Given the description of an element on the screen output the (x, y) to click on. 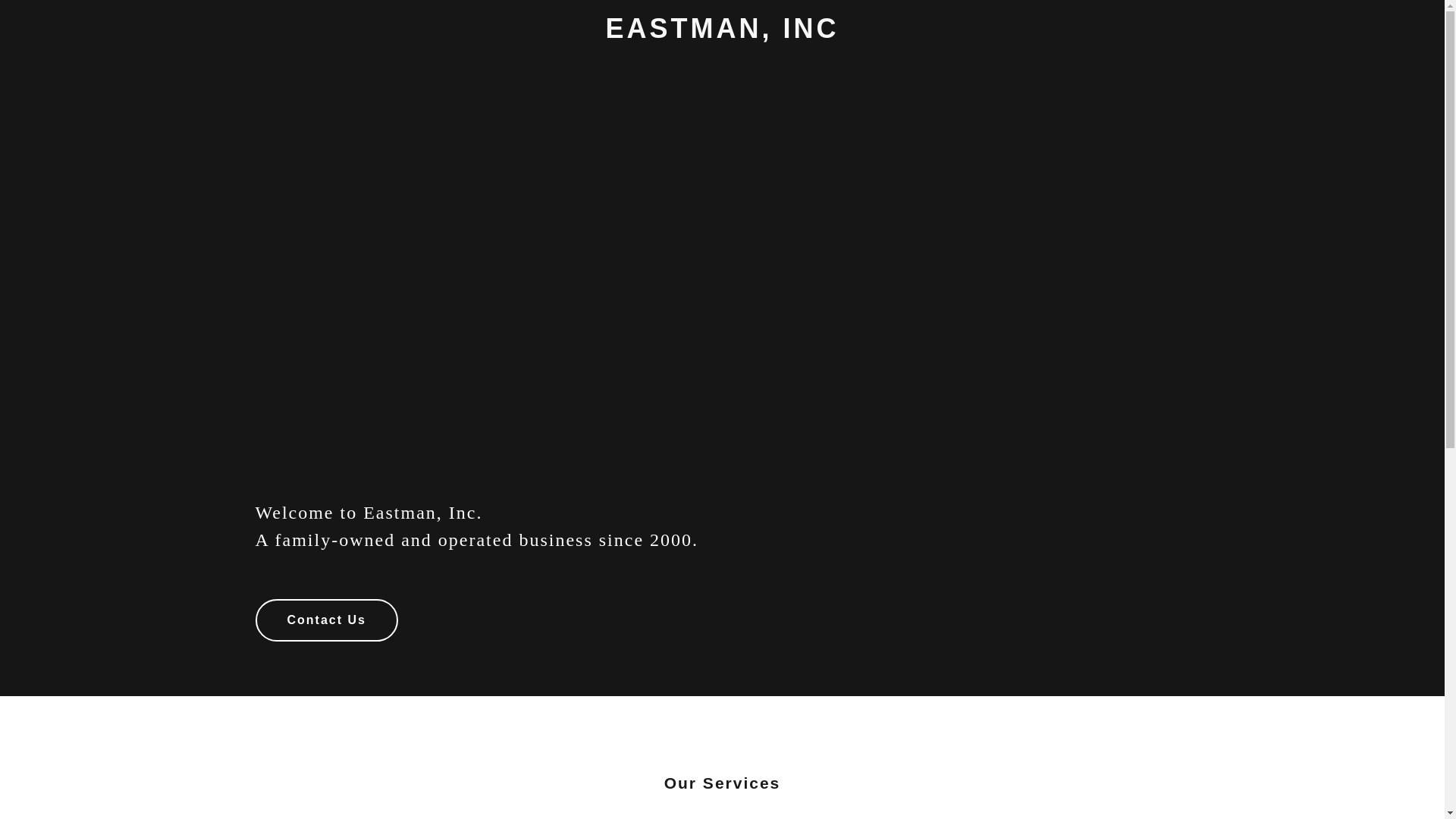
Eastman, Inc (722, 32)
EASTMAN, INC (722, 32)
Contact Us (325, 619)
